Given the description of an element on the screen output the (x, y) to click on. 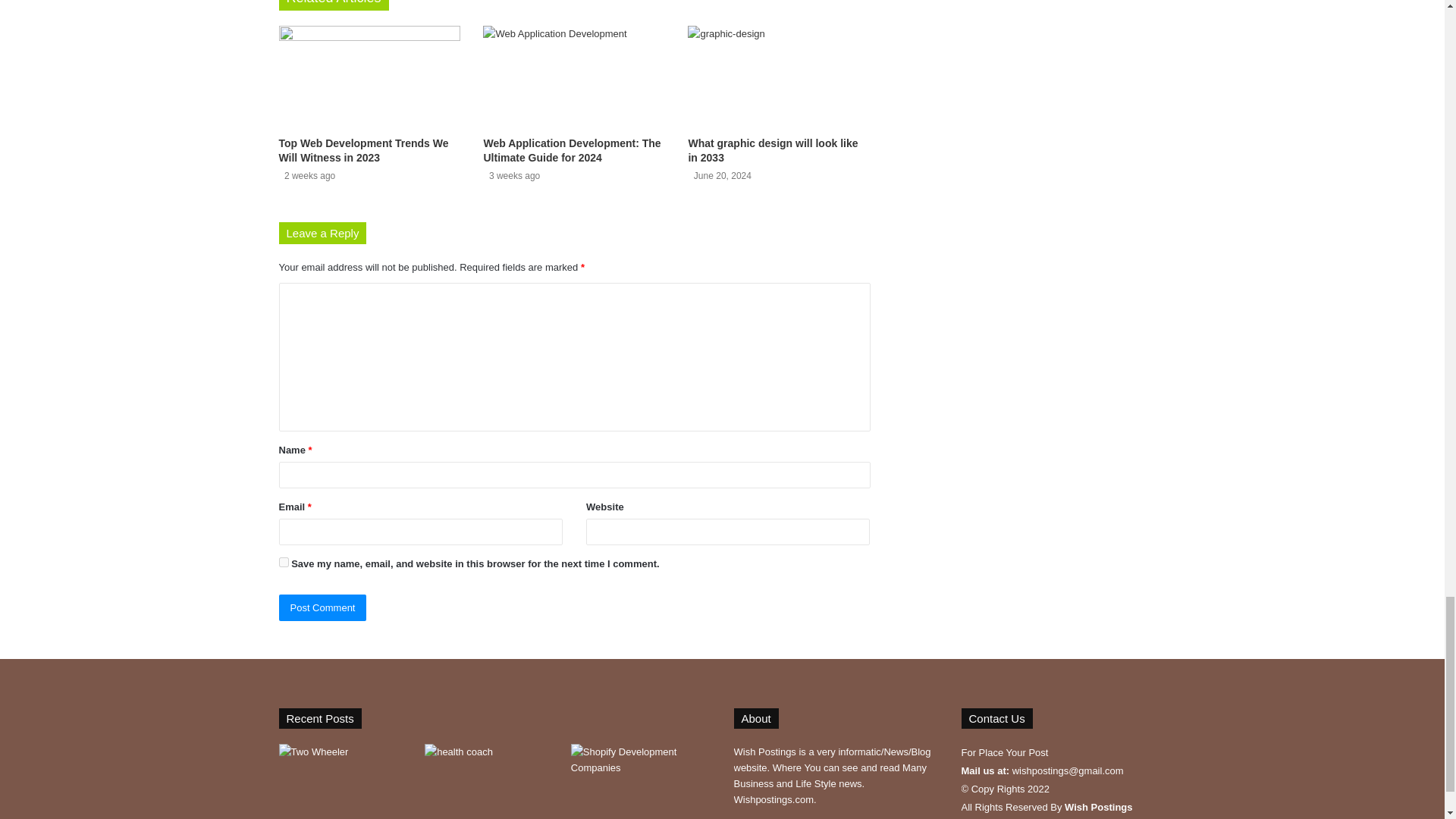
yes (283, 562)
Post Comment (322, 607)
